Given the description of an element on the screen output the (x, y) to click on. 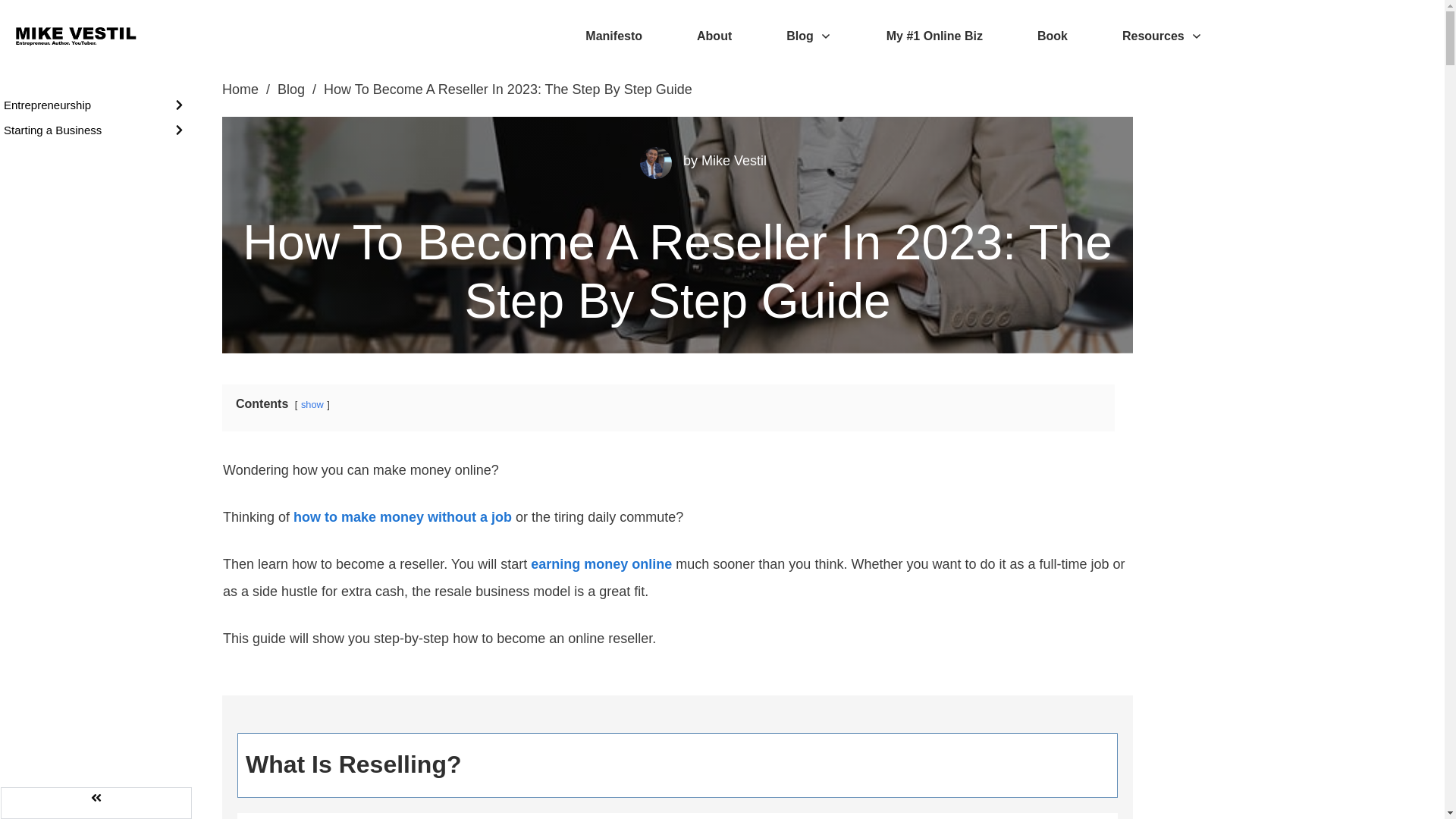
mike-vestil-blog (655, 163)
Book (1051, 36)
Manifesto (613, 36)
About (714, 36)
Resources (1162, 36)
Blog (808, 36)
